Given the description of an element on the screen output the (x, y) to click on. 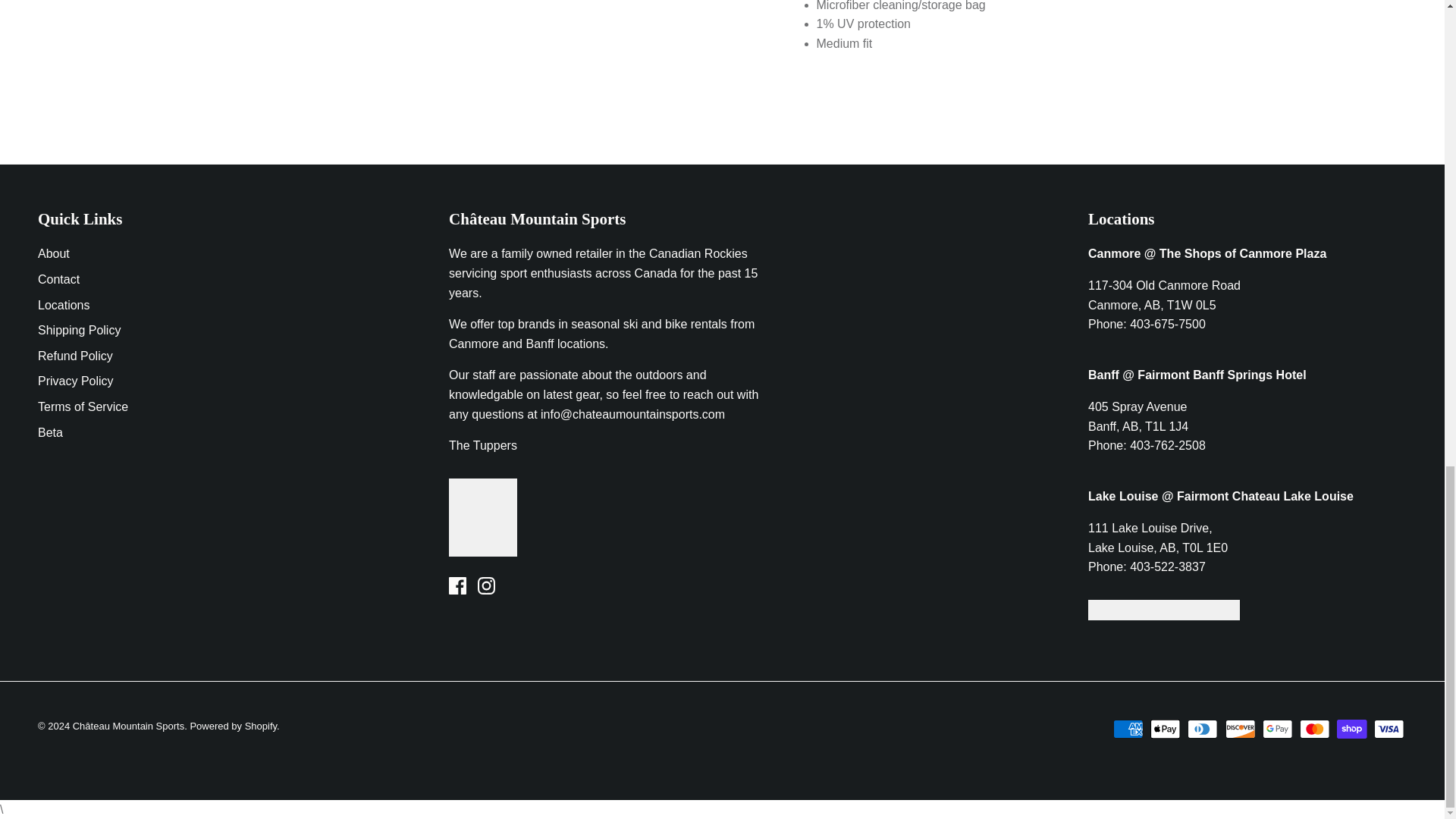
Google Pay (1277, 728)
American Express (1127, 728)
Discover (1240, 728)
Mastercard (1314, 728)
Apple Pay (1165, 728)
Shop Pay (1351, 728)
Facebook (456, 585)
Instagram (486, 585)
Visa (1388, 728)
Diners Club (1202, 728)
